Given the description of an element on the screen output the (x, y) to click on. 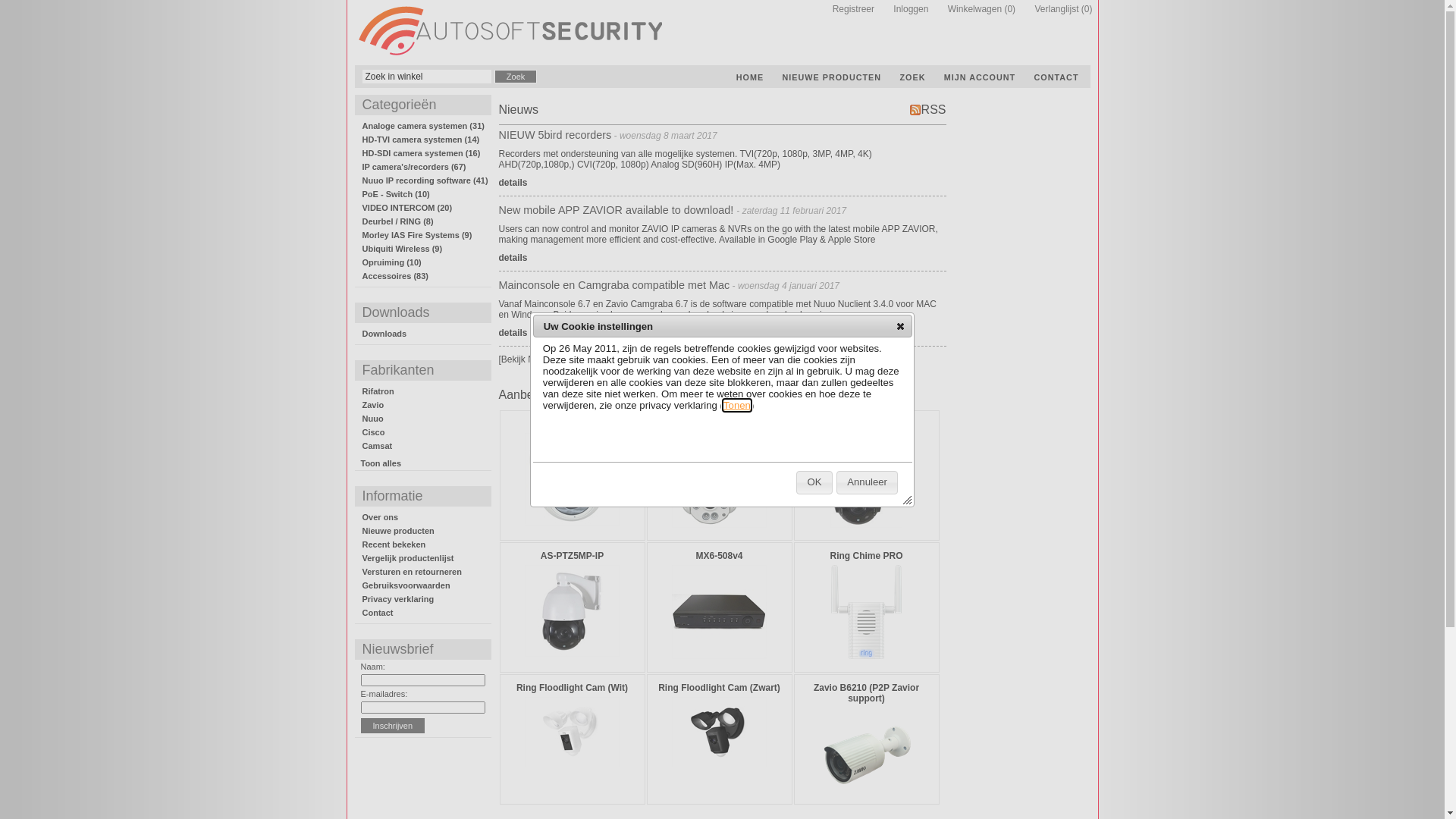
Deurbel / RING (8) Element type: text (397, 220)
[Bekijk Nieuws Archief] Element type: text (544, 359)
VIDEO INTERCOM (20) Element type: text (407, 207)
Inschrijven Element type: text (392, 725)
Toon details van Ring Floodlight Cam (Zwart) Element type: hover (718, 731)
Inloggen Element type: text (903, 8)
(0) Element type: text (1009, 8)
RSS Element type: text (928, 109)
details Element type: text (512, 332)
Toon details van Zavio B6210 (P2P Zavior support) Element type: hover (866, 754)
Nuuo IP recording software (41) Element type: text (425, 180)
Nieuwe producten Element type: text (398, 530)
Morley IAS Fire Systems (9) Element type: text (417, 234)
Contact Element type: text (377, 612)
AS-DIR30IP2MPW Element type: text (571, 423)
Zavio B6210 (P2P Zavior support) Element type: text (866, 692)
close Element type: text (900, 325)
MIJN ACCOUNT Element type: text (979, 76)
Vergelijk productenlijst Element type: text (408, 557)
  Element type: text (509, 30)
Accessoires (83) Element type: text (395, 275)
Toon details van Zavio B6210 (P2P Zavior support) Element type: hover (866, 798)
HOME Element type: text (749, 76)
HD-SDI camera systemen (16) Element type: text (421, 152)
Toon alles Element type: text (380, 462)
Toon details van Ring Chime PRO Element type: hover (866, 611)
Toon details van MX6-508v4 Element type: hover (718, 611)
New mobile APP ZAVIOR available to download! Element type: text (617, 209)
Toon details van Ring Floodlight Cam (Wit) Element type: hover (571, 764)
Downloads Element type: text (384, 333)
Toon details van AS-DIR30IP2MPW Element type: hover (571, 522)
OK Element type: text (813, 482)
Recent bekeken Element type: text (394, 544)
Rifatron Element type: text (378, 390)
HD-TVI camera systemen (14) Element type: text (421, 139)
Ring Floodlight Cam (Wit) Element type: text (571, 687)
IP camera's/recorders (67) Element type: text (414, 166)
Gebruiksvoorwaarden Element type: text (406, 584)
Ring Floodlight Cam (Zwart) Element type: text (719, 687)
Zavio Element type: text (373, 404)
Toon details van MX6-508v4 Element type: hover (718, 655)
Annuleer Element type: text (866, 482)
NIEUWE PRODUCTEN Element type: text (832, 76)
Tonen Element type: text (736, 405)
details Element type: text (512, 182)
Mainconsole en Camgraba compatible met Mac Element type: text (614, 285)
Nuuo Element type: text (372, 418)
Camsat Element type: text (377, 445)
Verlanglijst Element type: text (1048, 8)
Zoek Element type: text (515, 76)
Ring Chime PRO Element type: text (865, 555)
Analoge camera systemen (31) Element type: text (423, 125)
ZOEK Element type: text (911, 76)
Versturen en retourneren Element type: text (411, 571)
MX6-508v4 Element type: text (718, 555)
(0) Element type: text (1086, 8)
Toon details van Ring Chime PRO Element type: hover (866, 656)
details Element type: text (512, 257)
Cisco Element type: text (373, 431)
Registreer Element type: text (845, 8)
PoE - Switch (10) Element type: text (395, 193)
Privacy verklaring Element type: text (398, 598)
Winkelwagen Element type: text (966, 8)
NIEUW 5bird recorders Element type: text (554, 134)
Over ons Element type: text (380, 516)
Ubiquiti Wireless (9) Element type: text (402, 248)
Toon details van Ring Floodlight Cam (Wit) Element type: hover (571, 731)
Opruiming (10) Element type: text (391, 261)
Toon details van Ring Floodlight Cam (Zwart) Element type: hover (718, 764)
CONTACT Element type: text (1056, 76)
Toon details van AS-DIR30IP2MPW Element type: hover (571, 479)
